Given the description of an element on the screen output the (x, y) to click on. 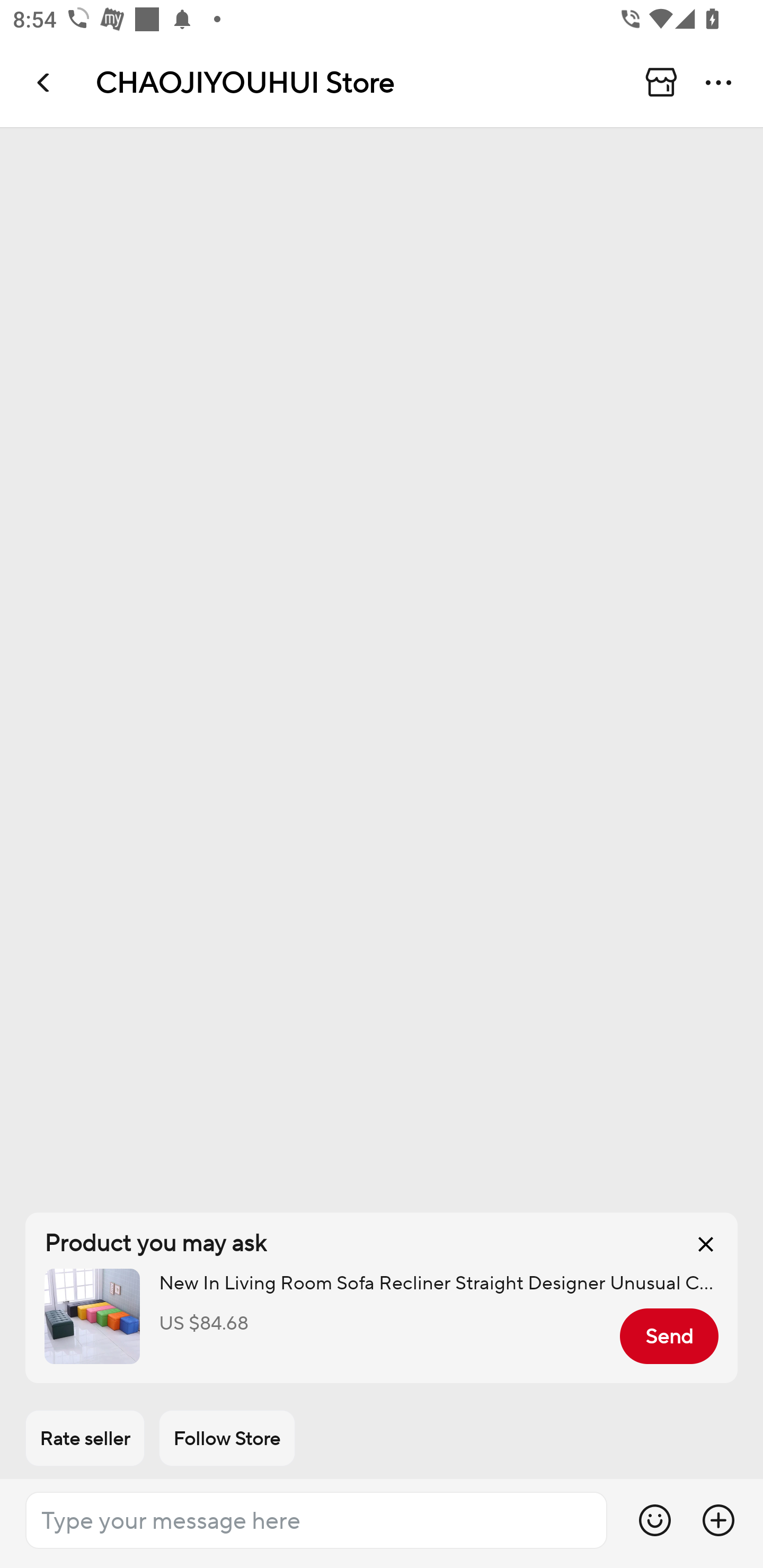
Navigate up (44, 82)
Send (668, 1335)
Rate seller (84, 1437)
Follow Store (226, 1437)
Type your message here (316, 1520)
